Given the description of an element on the screen output the (x, y) to click on. 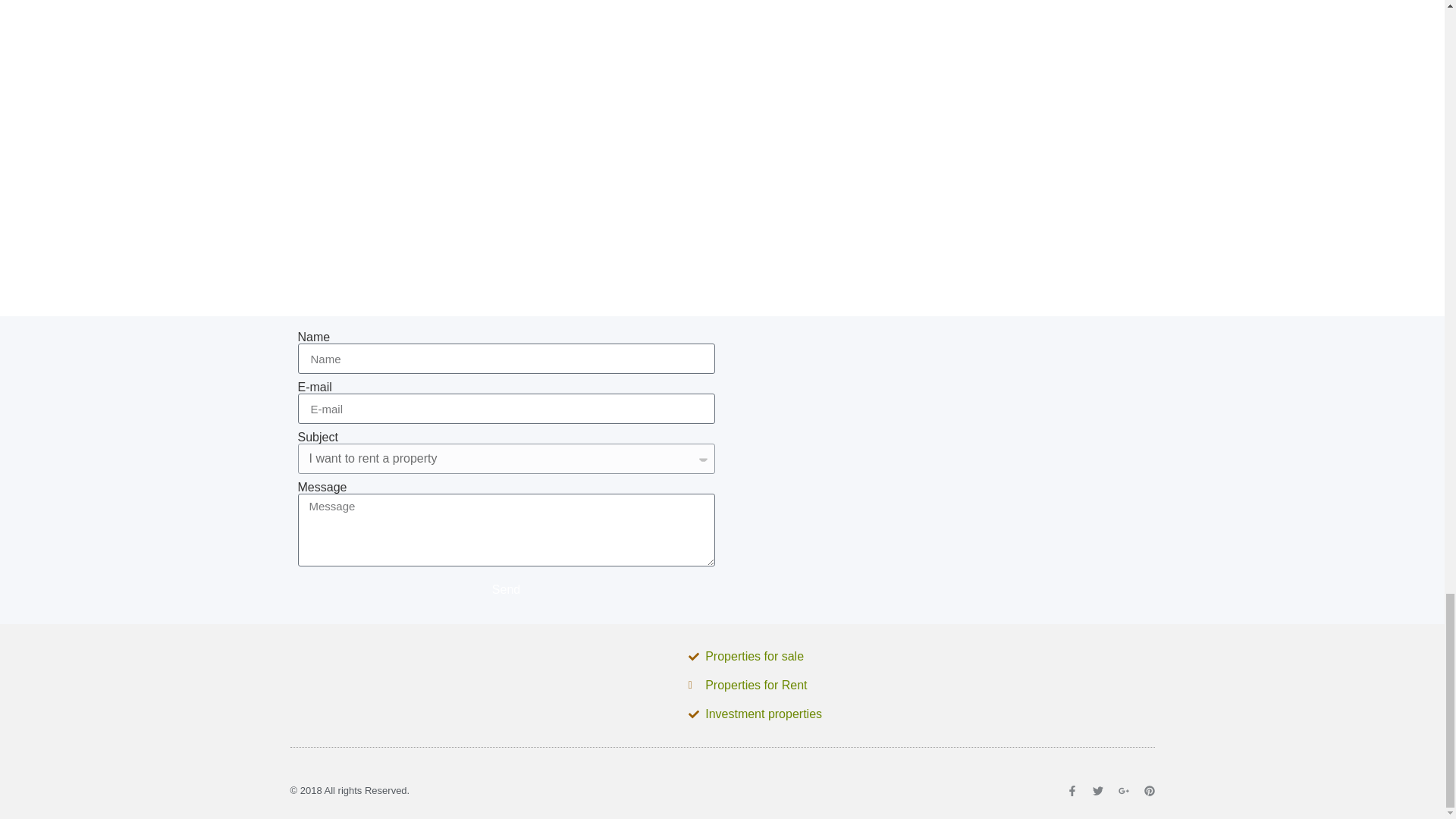
Send (505, 589)
